Given the description of an element on the screen output the (x, y) to click on. 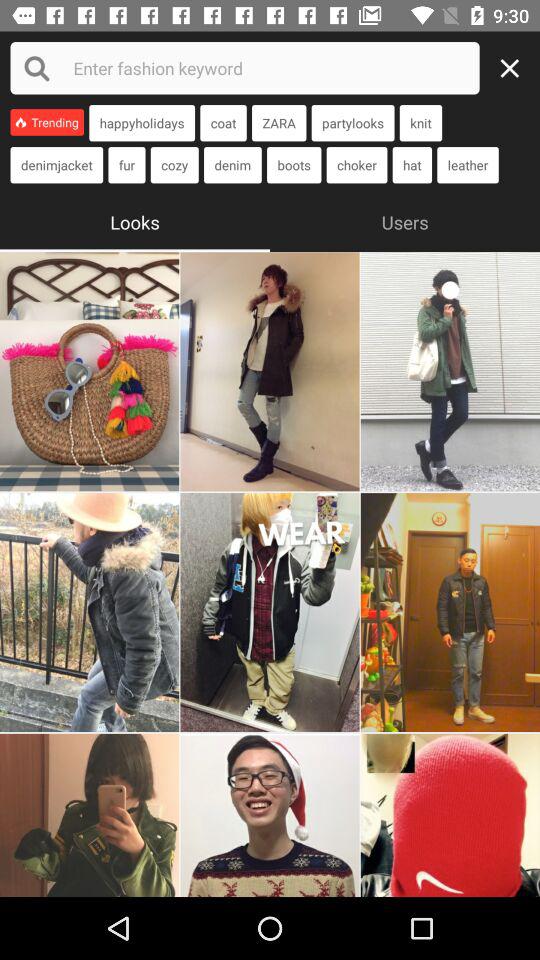
select image (450, 815)
